Given the description of an element on the screen output the (x, y) to click on. 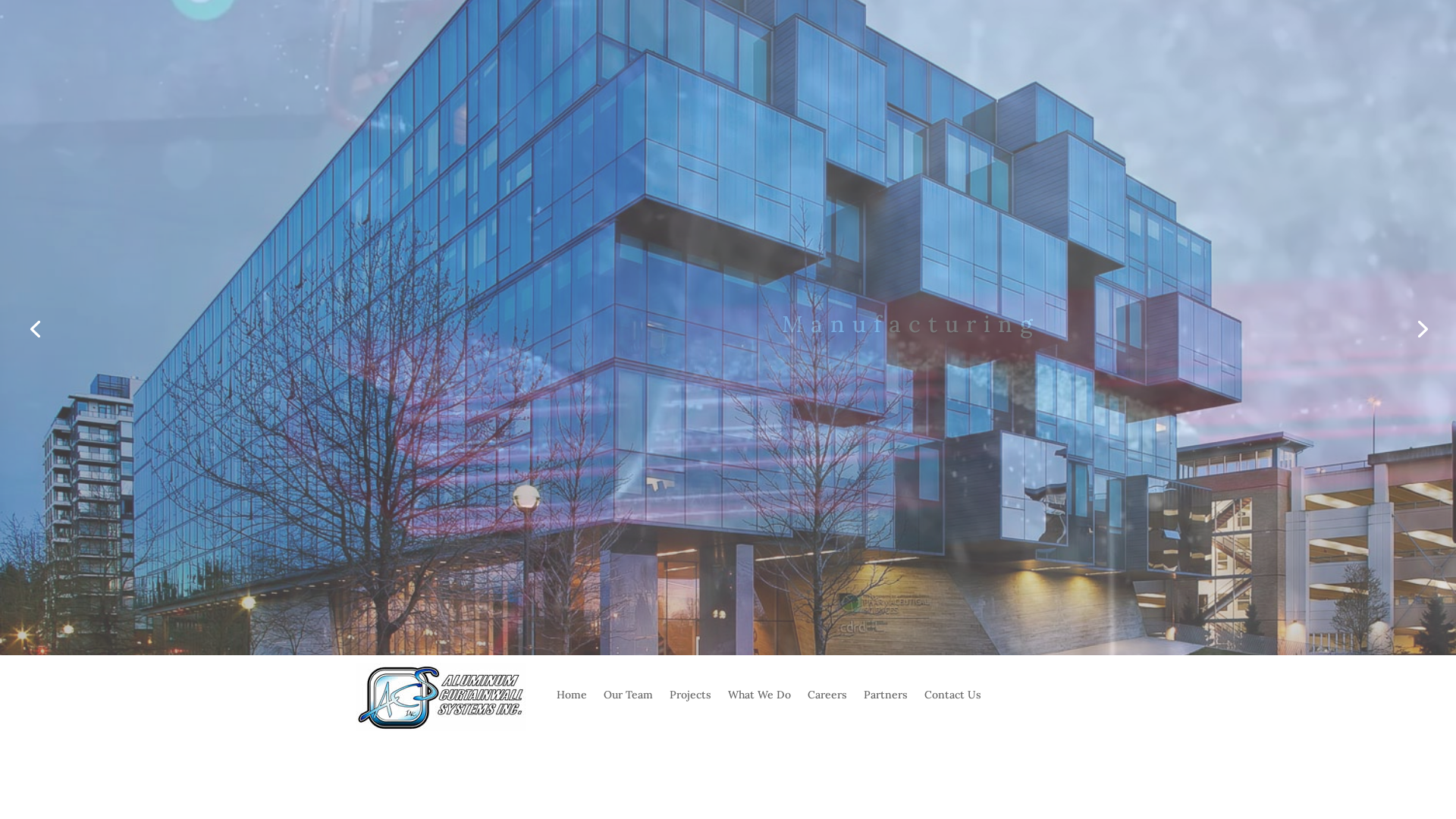
Projects Element type: text (690, 705)
Partners Element type: text (885, 705)
Our Team Element type: text (627, 705)
Contact Us Element type: text (952, 705)
What We Do Element type: text (759, 705)
Home Element type: text (571, 705)
Careers Element type: text (827, 705)
